Given the description of an element on the screen output the (x, y) to click on. 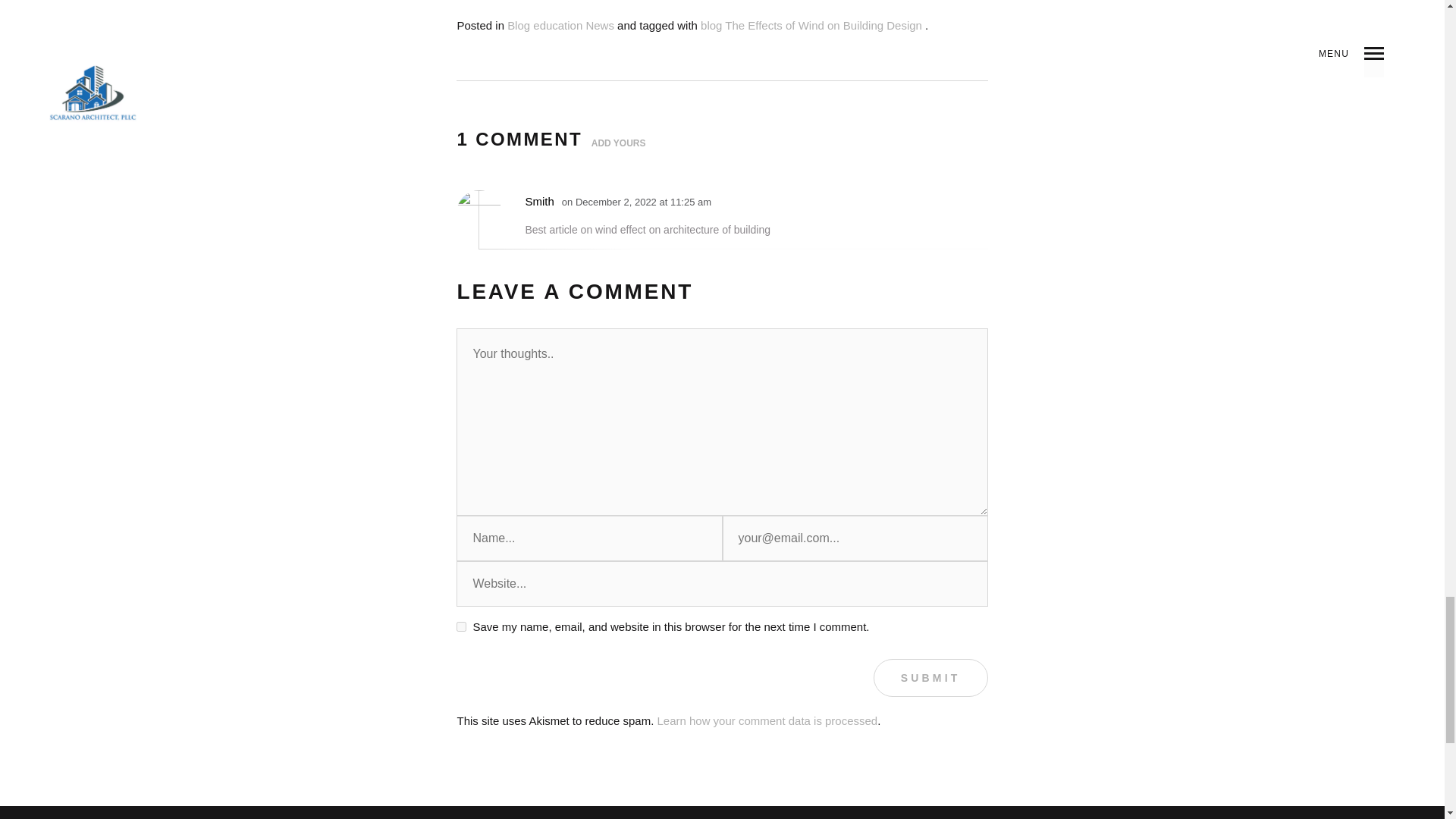
Blog (517, 24)
education (557, 24)
Smith (538, 201)
View all posts in News (598, 24)
yes (461, 626)
View all posts in Blog (517, 24)
on December 2, 2022 at 11:25 am (638, 202)
View all posts tagged blog (711, 24)
View all posts in education (557, 24)
News (598, 24)
